Given the description of an element on the screen output the (x, y) to click on. 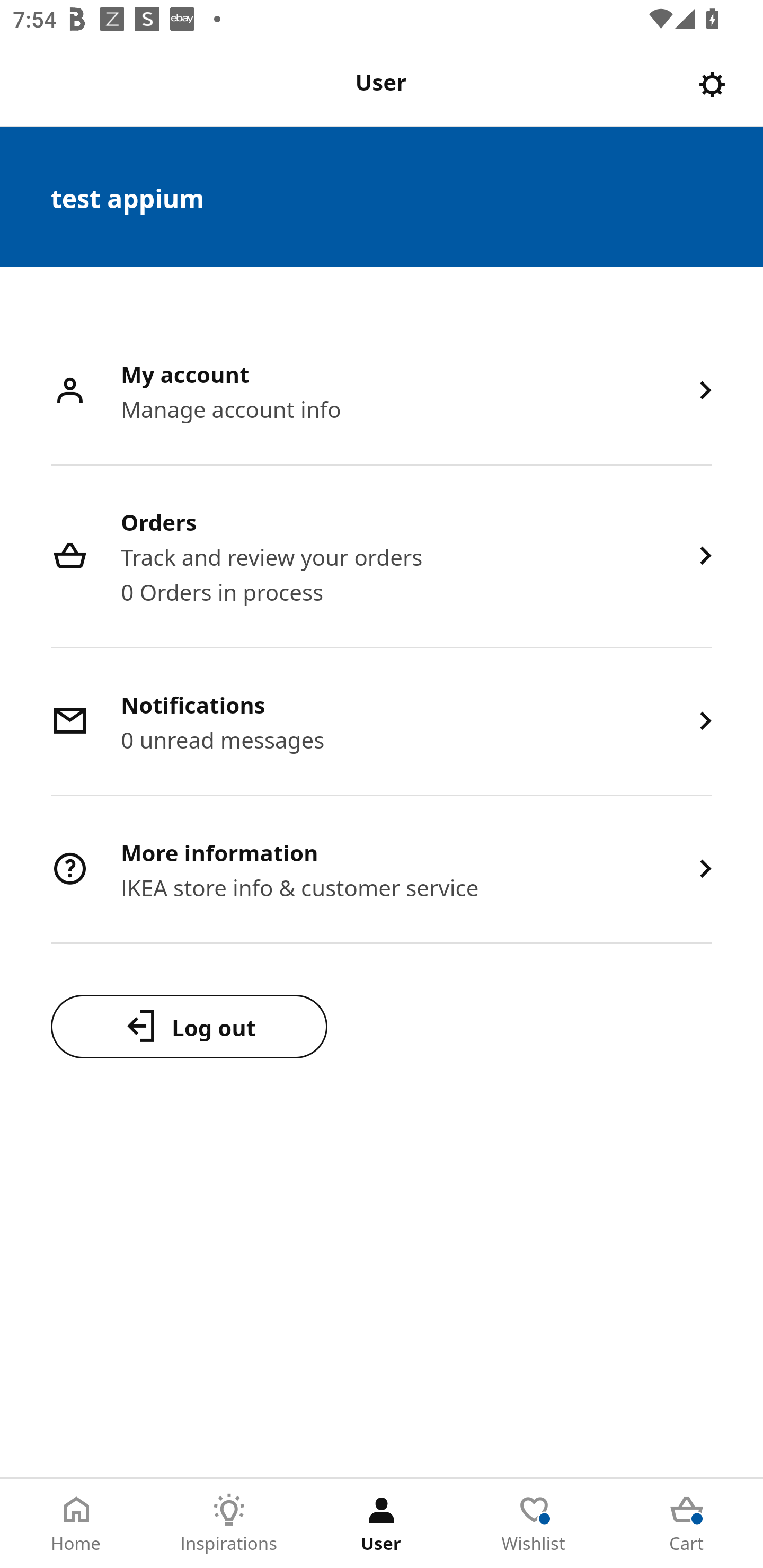
My account
Manage account info (381, 391)
Notifications
0 unread messages (381, 722)
Log out (189, 1026)
Home
Tab 1 of 5 (76, 1522)
Inspirations
Tab 2 of 5 (228, 1522)
User
Tab 3 of 5 (381, 1522)
Wishlist
Tab 4 of 5 (533, 1522)
Cart
Tab 5 of 5 (686, 1522)
